Given the description of an element on the screen output the (x, y) to click on. 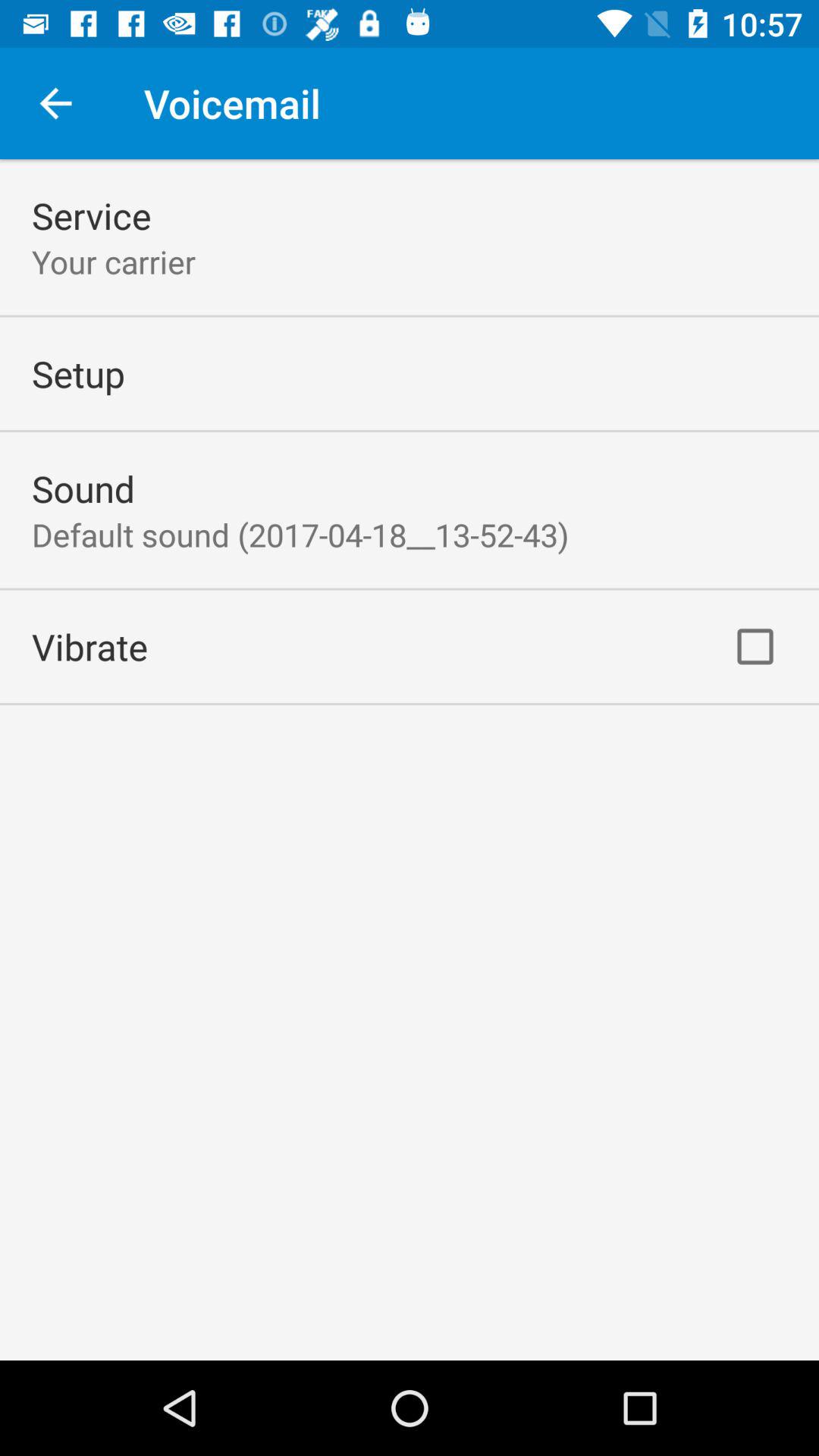
choose the icon on the right (755, 646)
